Given the description of an element on the screen output the (x, y) to click on. 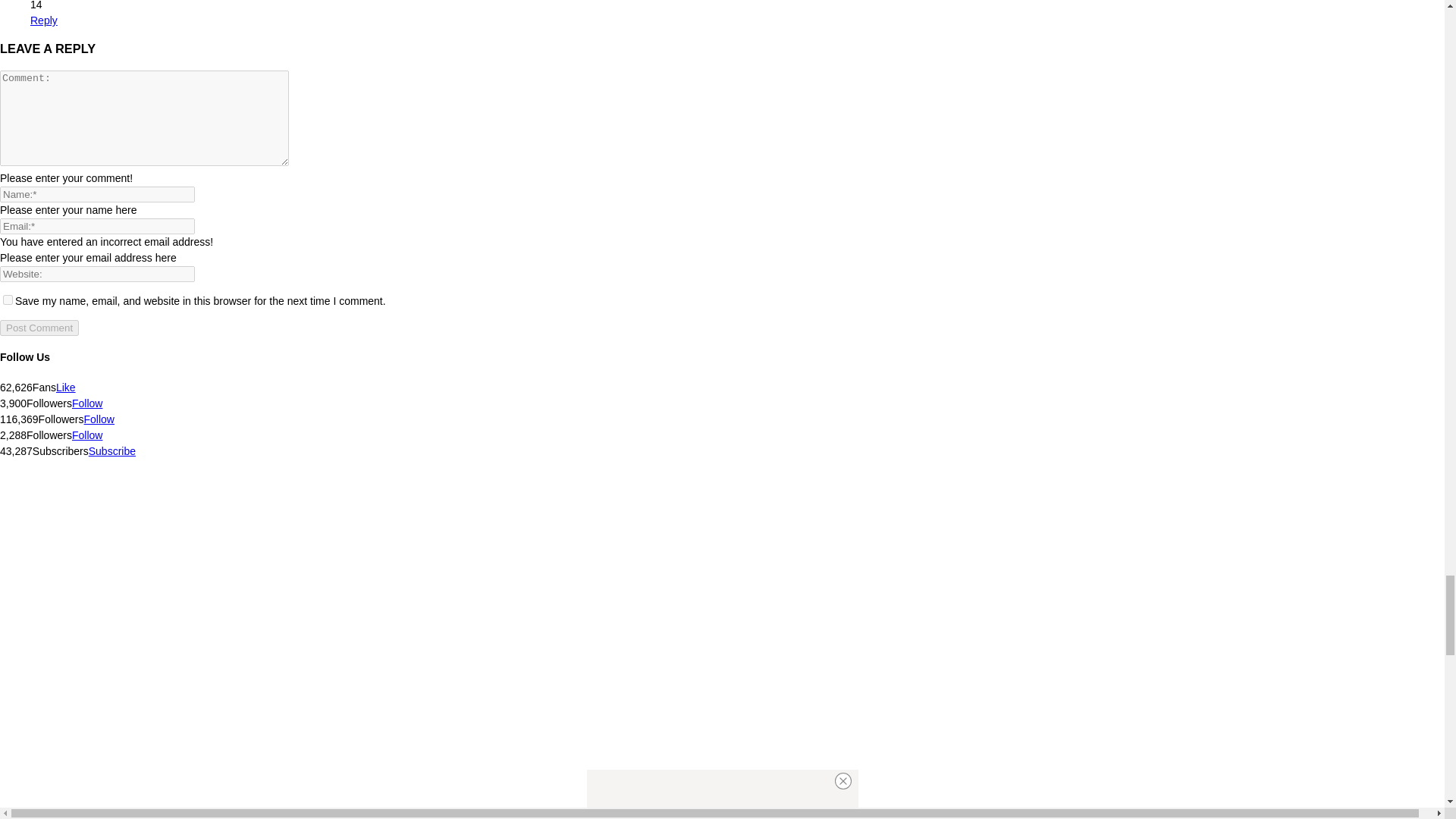
Post Comment (39, 327)
yes (7, 299)
